Given the description of an element on the screen output the (x, y) to click on. 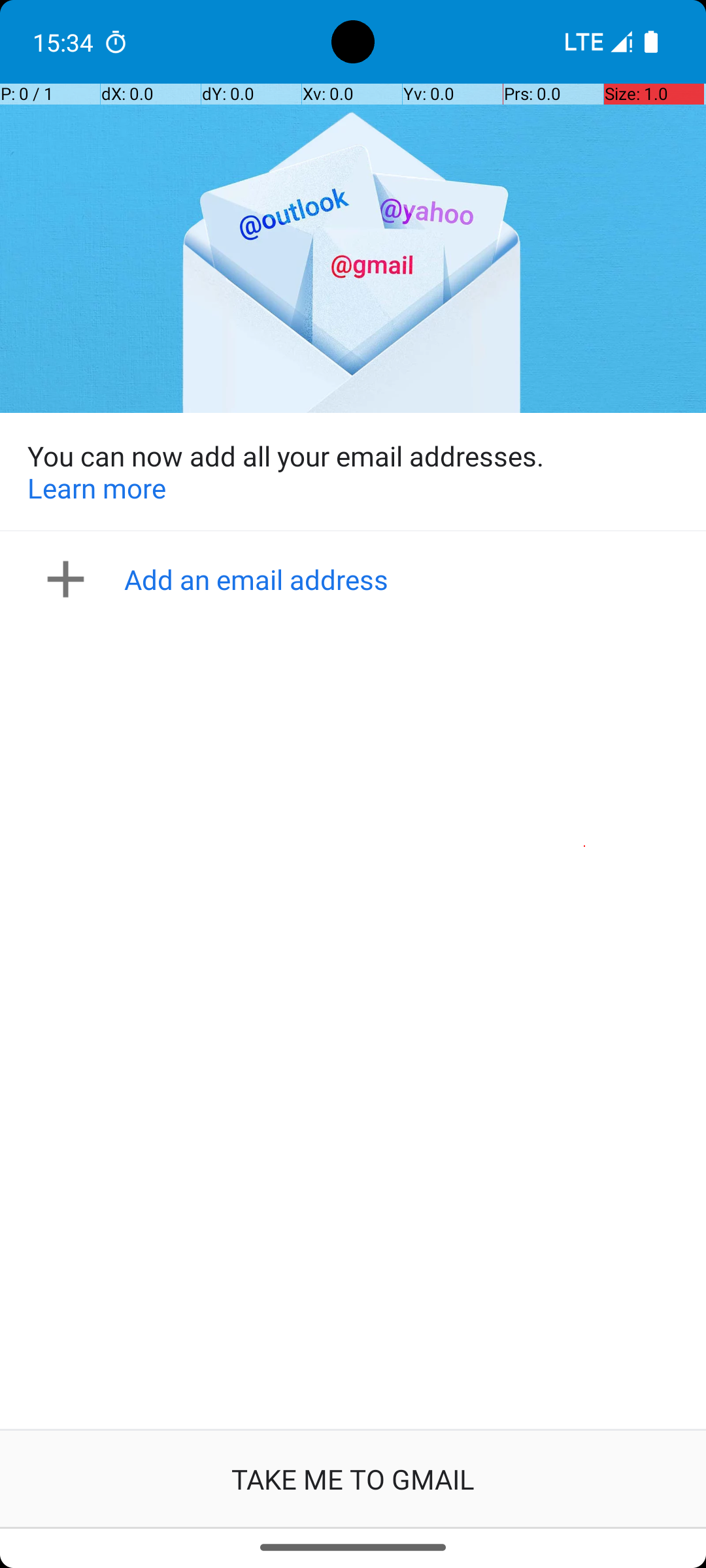
You can now add all your email addresses. Learn more Element type: android.widget.TextView (352, 471)
TAKE ME TO GMAIL Element type: android.widget.TextView (353, 1478)
Add an email address Element type: android.widget.TextView (356, 579)
